Given the description of an element on the screen output the (x, y) to click on. 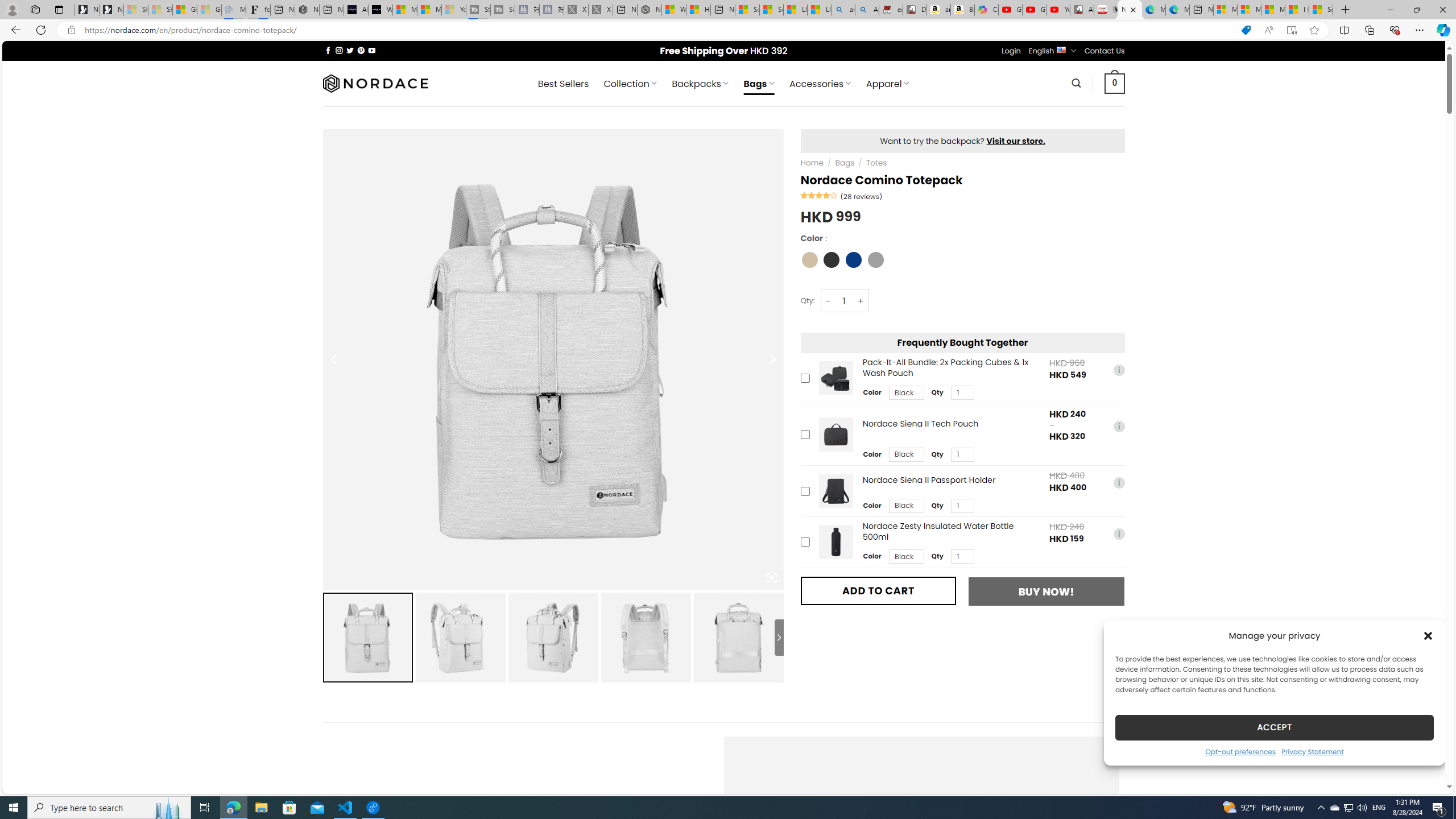
Nordace Comino Totepack quantity (843, 300)
Wildlife - MSN (673, 9)
Newsletter Sign Up (111, 9)
Contact Us (1104, 50)
Nordace Siena II Tech Pouch (835, 434)
Amazon Echo Dot PNG - Search Images (866, 9)
i (1118, 533)
